Given the description of an element on the screen output the (x, y) to click on. 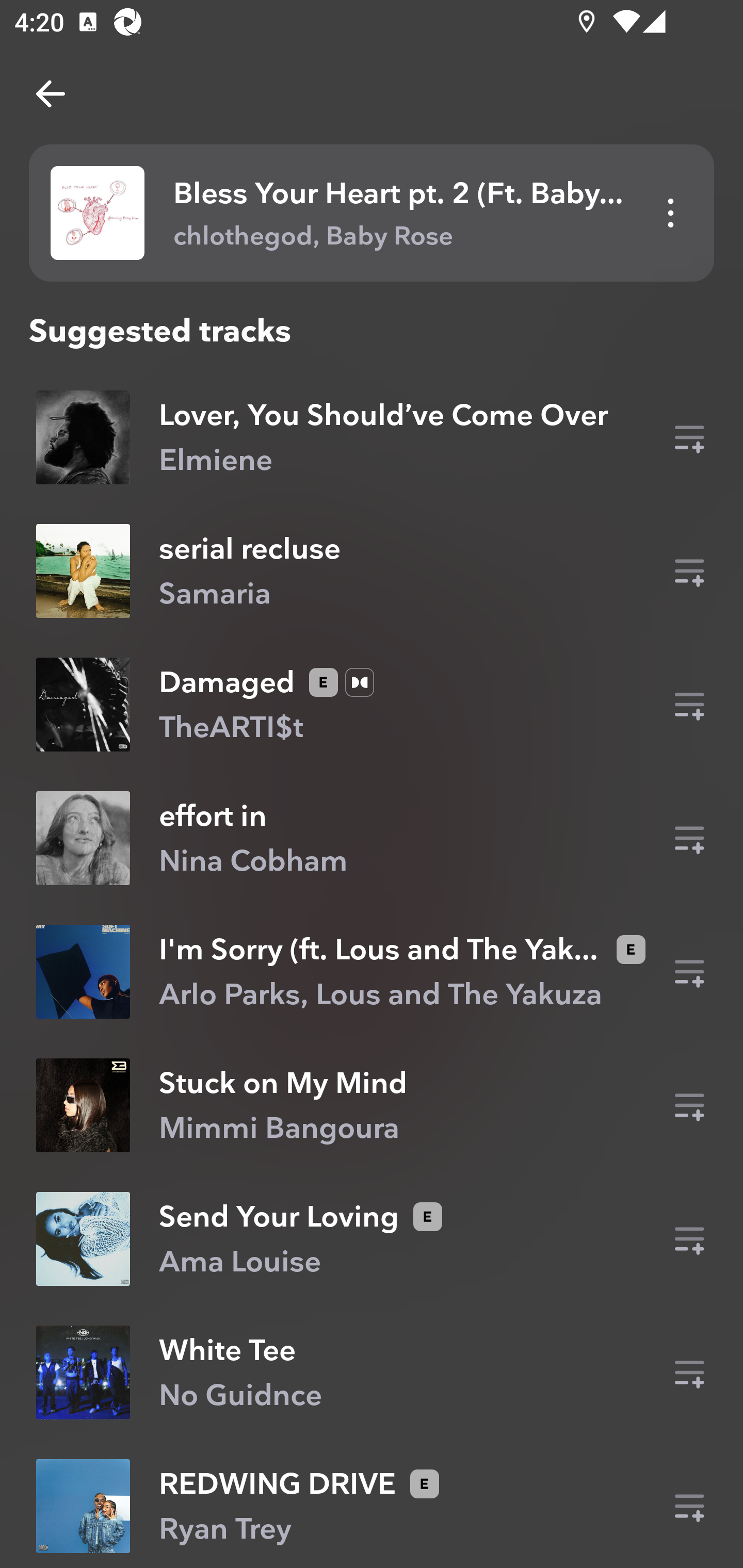
Lover, You Should’ve Come Over Elmiene (371, 437)
serial recluse Samaria (371, 570)
Damaged TheARTI$t (371, 704)
effort in Nina Cobham (371, 837)
Stuck on My Mind Mimmi Bangoura (371, 1105)
Send Your Loving Ama Louise (371, 1238)
White Tee No Guidnce (371, 1371)
REDWING DRIVE Ryan Trey (371, 1505)
